Given the description of an element on the screen output the (x, y) to click on. 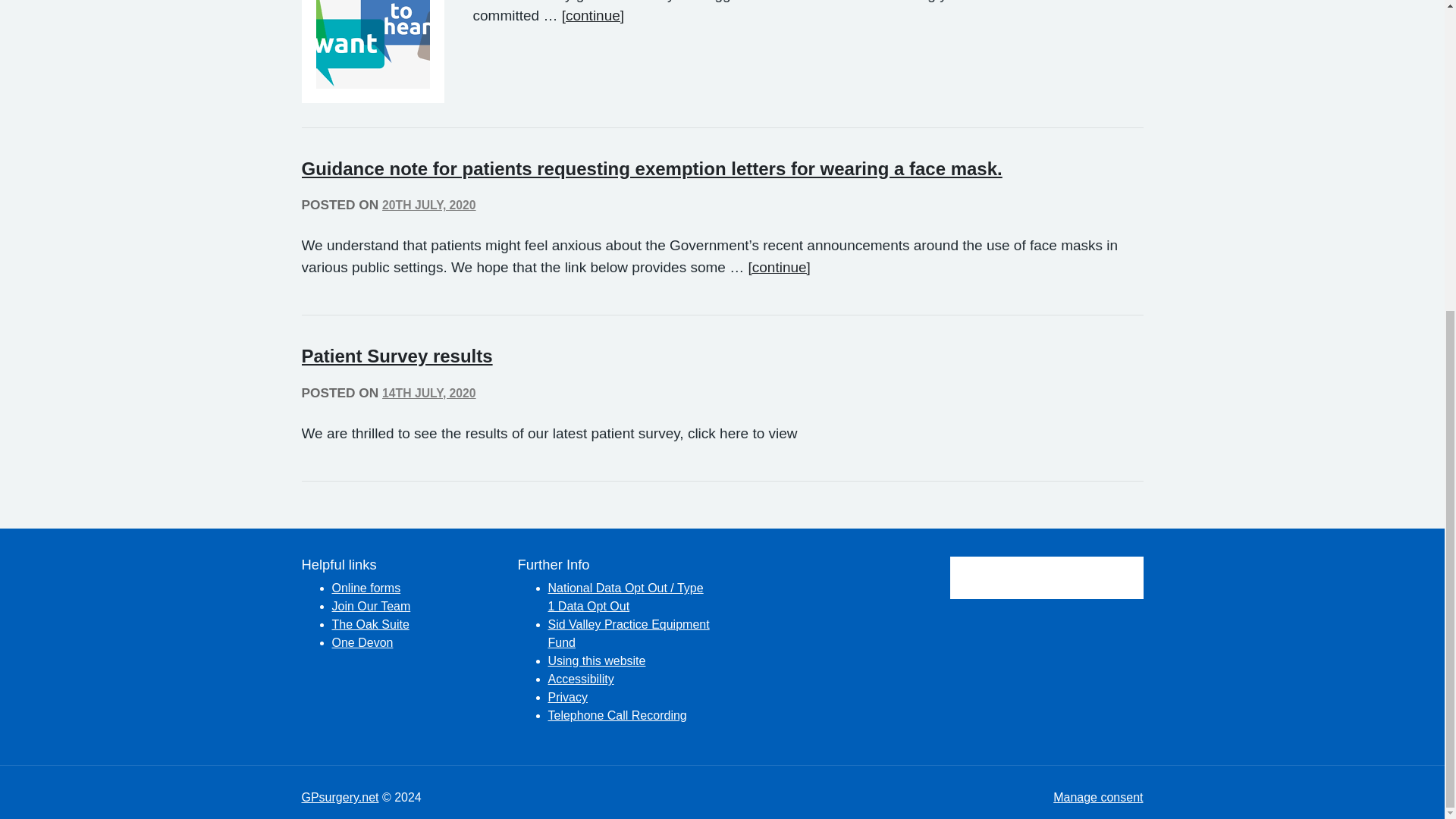
One Devon (362, 642)
Join Our Team (370, 605)
Sid Valley Practice Equipment Fund (628, 633)
Patient Survey results (397, 355)
20TH JULY, 2020 (428, 214)
Online forms (366, 587)
14TH JULY, 2020 (428, 401)
The Oak Suite (370, 624)
